Given the description of an element on the screen output the (x, y) to click on. 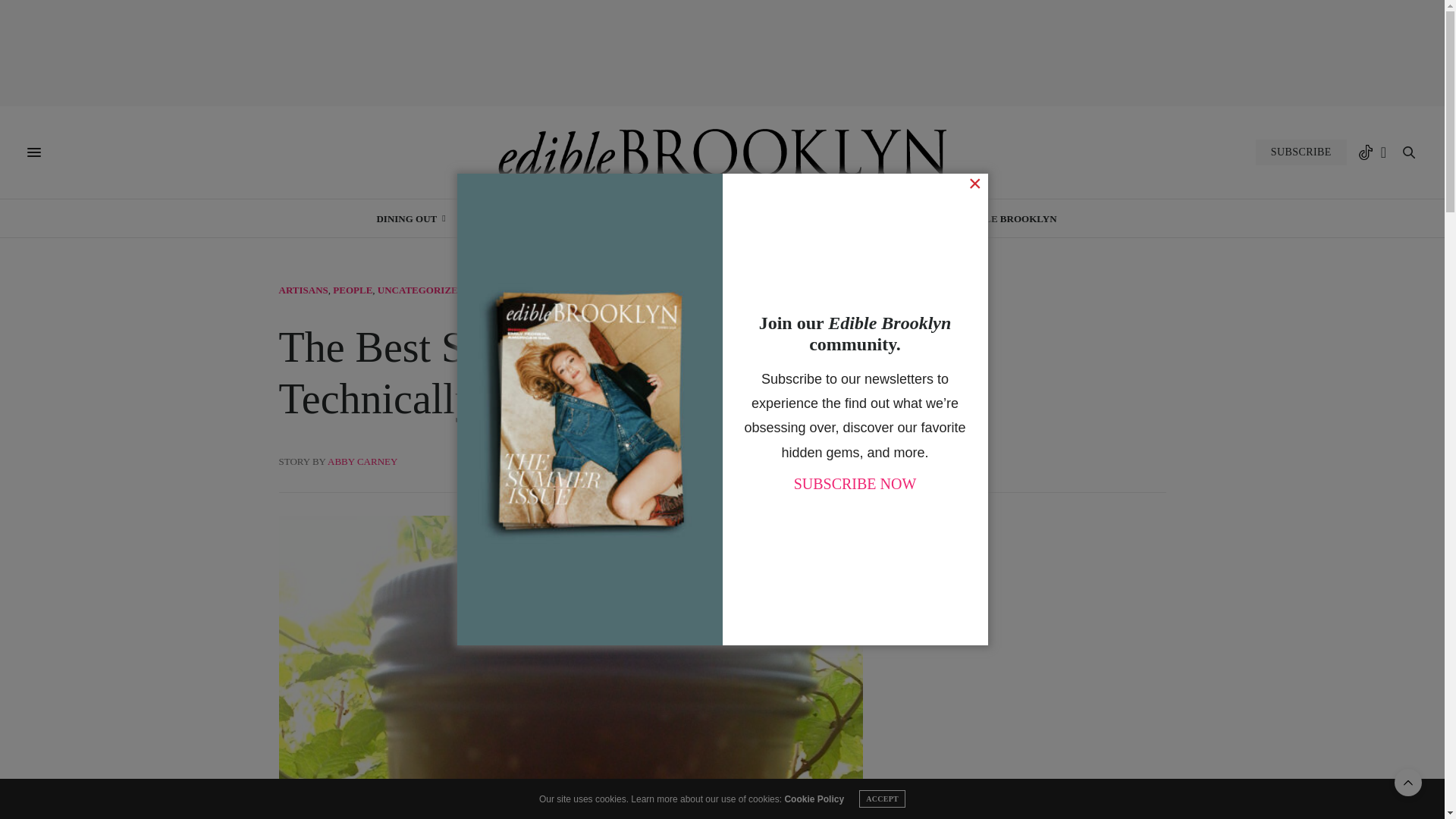
3rd party ad content (722, 52)
